Given the description of an element on the screen output the (x, y) to click on. 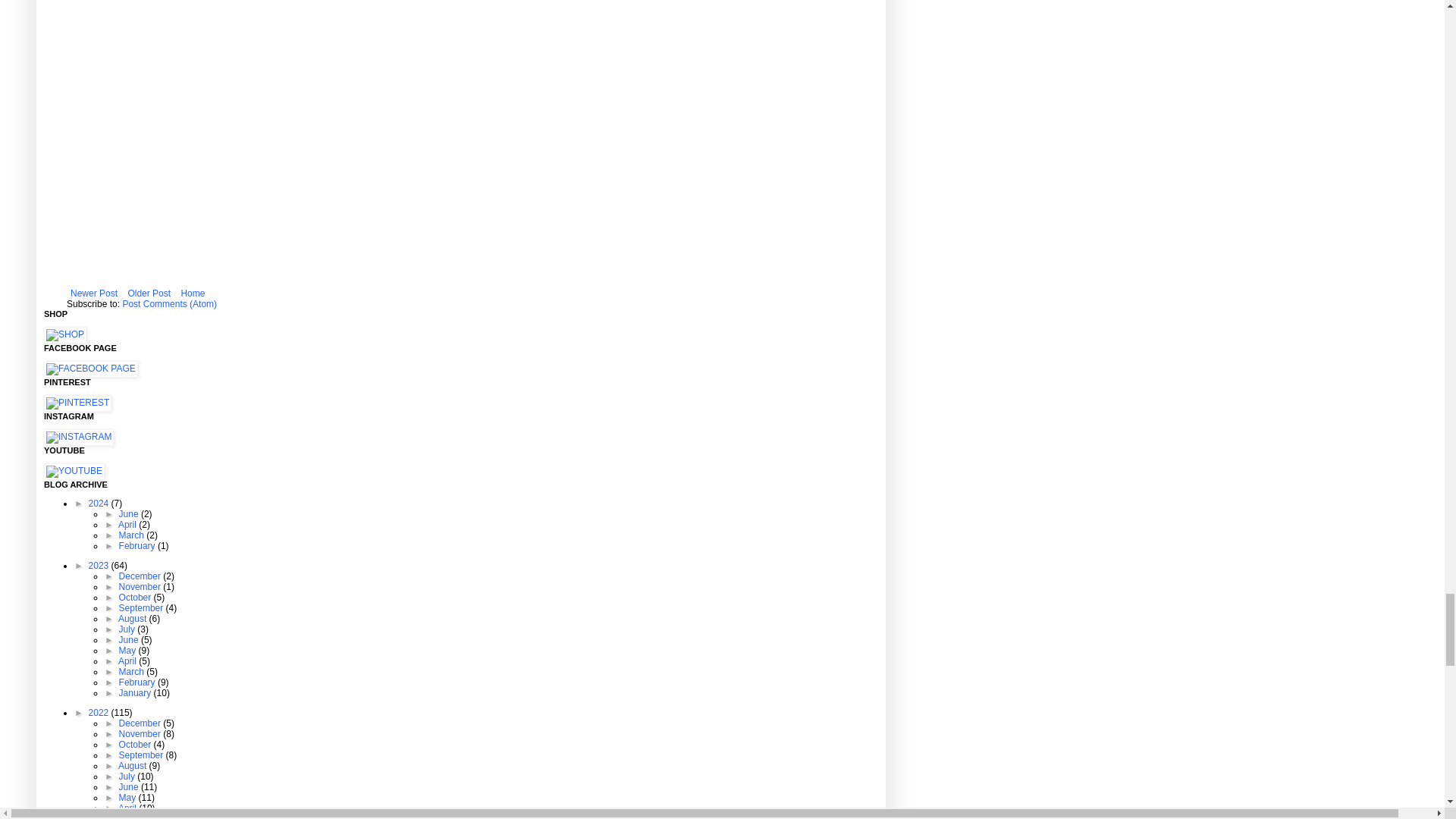
Older Post (148, 293)
Newer Post (93, 293)
